Given the description of an element on the screen output the (x, y) to click on. 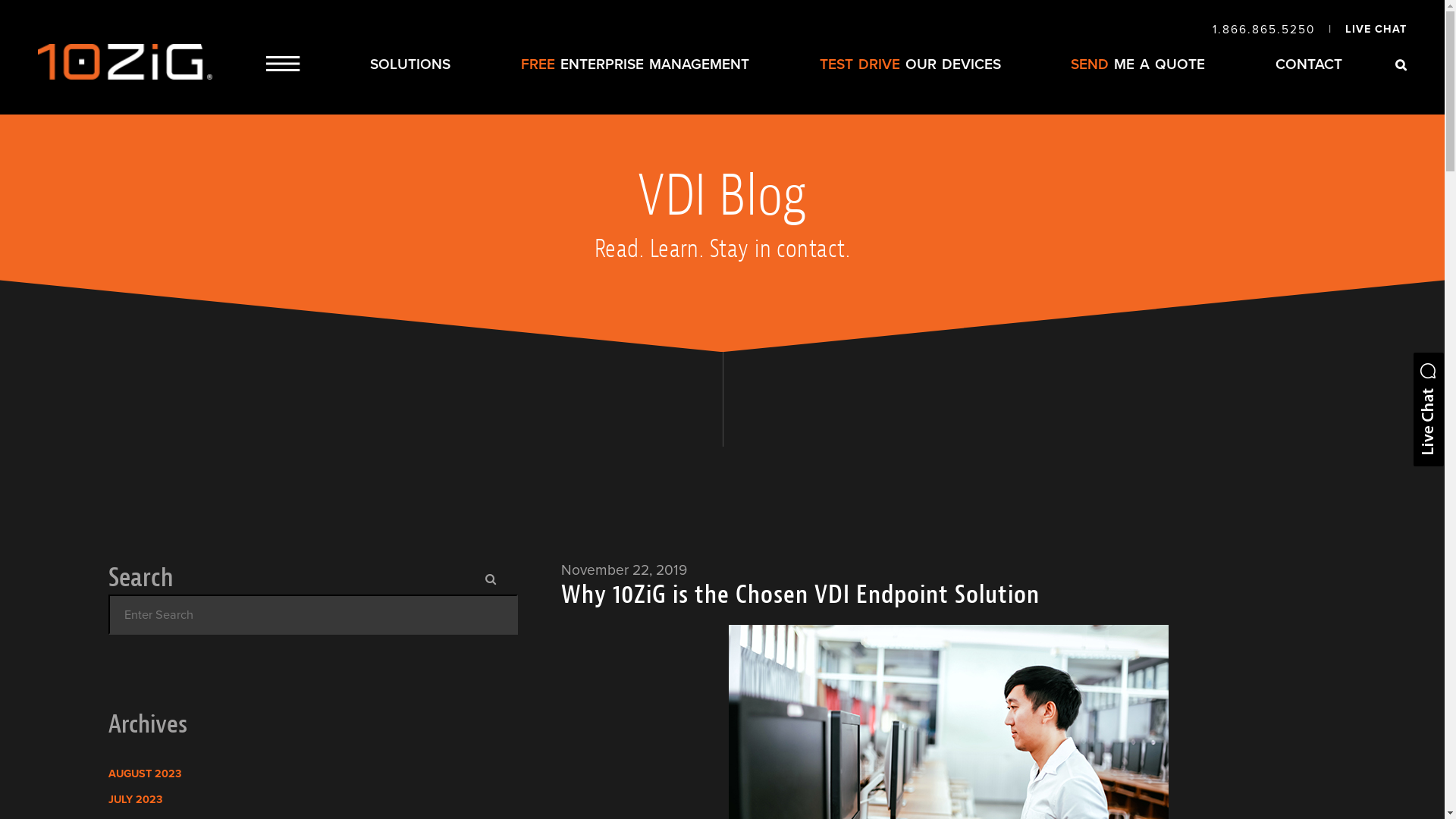
CONTACT Element type: text (1308, 63)
TEST DRIVE OUR DEVICES Element type: text (910, 63)
1.866.865.5250 Element type: text (1263, 29)
JULY 2023 Element type: text (135, 799)
SOLUTIONS Element type: text (410, 63)
SEND ME A QUOTE Element type: text (1137, 63)
AUGUST 2023 Element type: text (144, 773)
FREE ENTERPRISE MANAGEMENT Element type: text (634, 63)
